Given the description of an element on the screen output the (x, y) to click on. 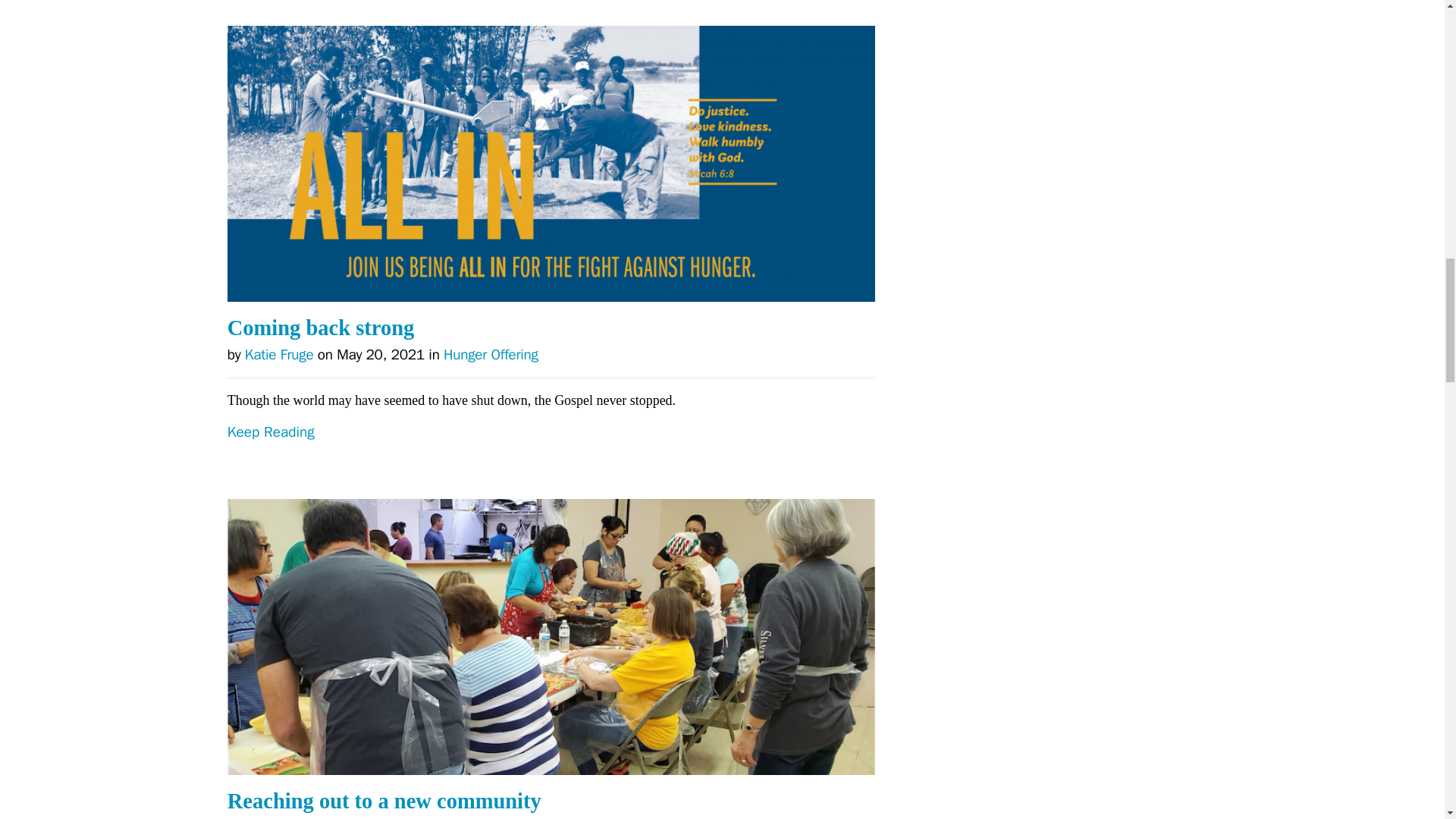
Katie Fruge (279, 354)
Keep Reading (551, 12)
Keep Reading (551, 461)
Hunger Offering (491, 354)
